Given the description of an element on the screen output the (x, y) to click on. 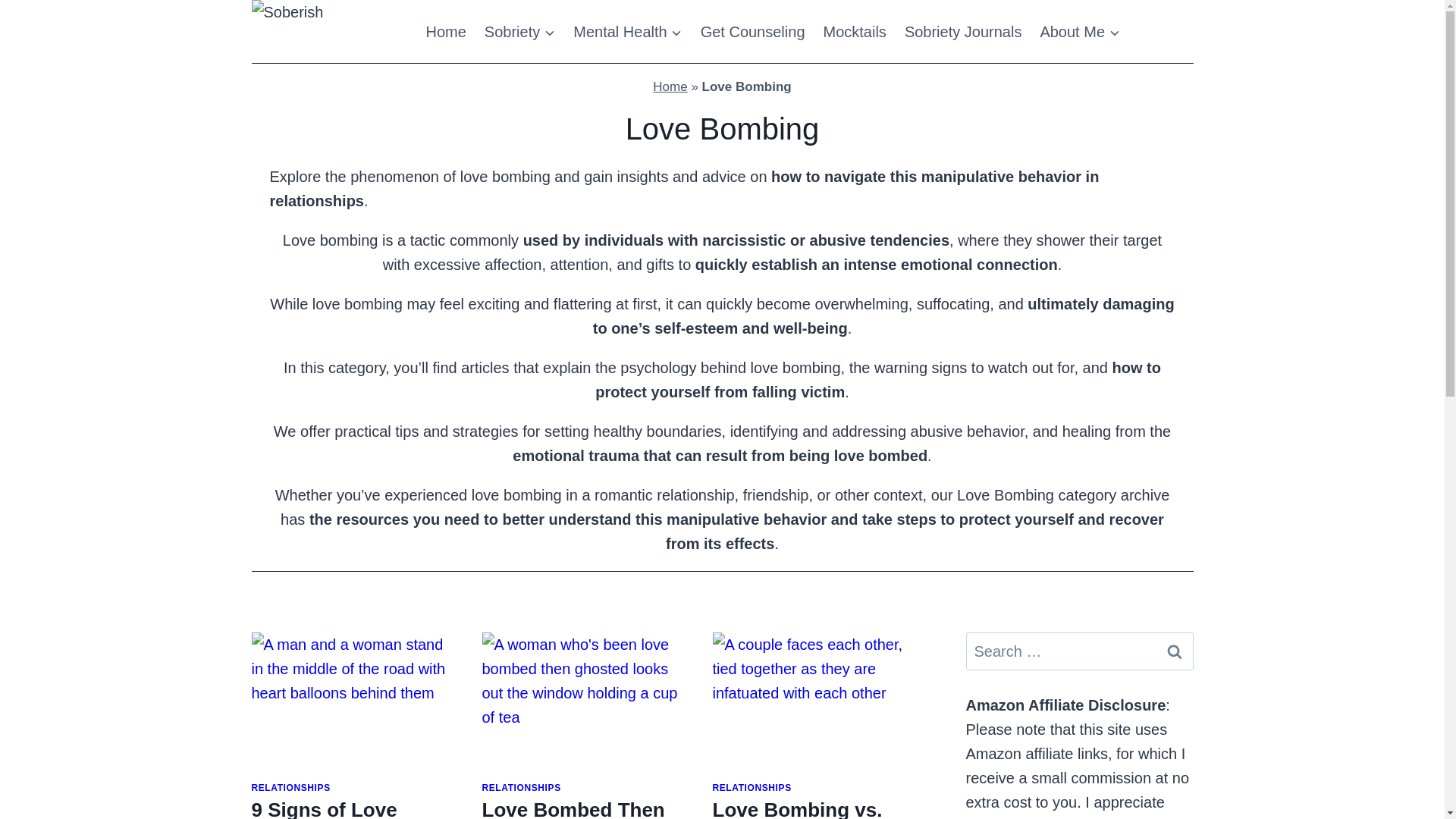
Sobriety (520, 31)
Get Counseling (752, 31)
Home (669, 86)
Love Bombed Then Ghosted? The Cruel Reasons People Do It. (575, 808)
9 Signs of Love Bombing You Should Not Ignore (350, 808)
RELATIONSHIPS (520, 787)
RELATIONSHIPS (290, 787)
About Me (1079, 31)
Search (1174, 651)
Mocktails (854, 31)
